Given the description of an element on the screen output the (x, y) to click on. 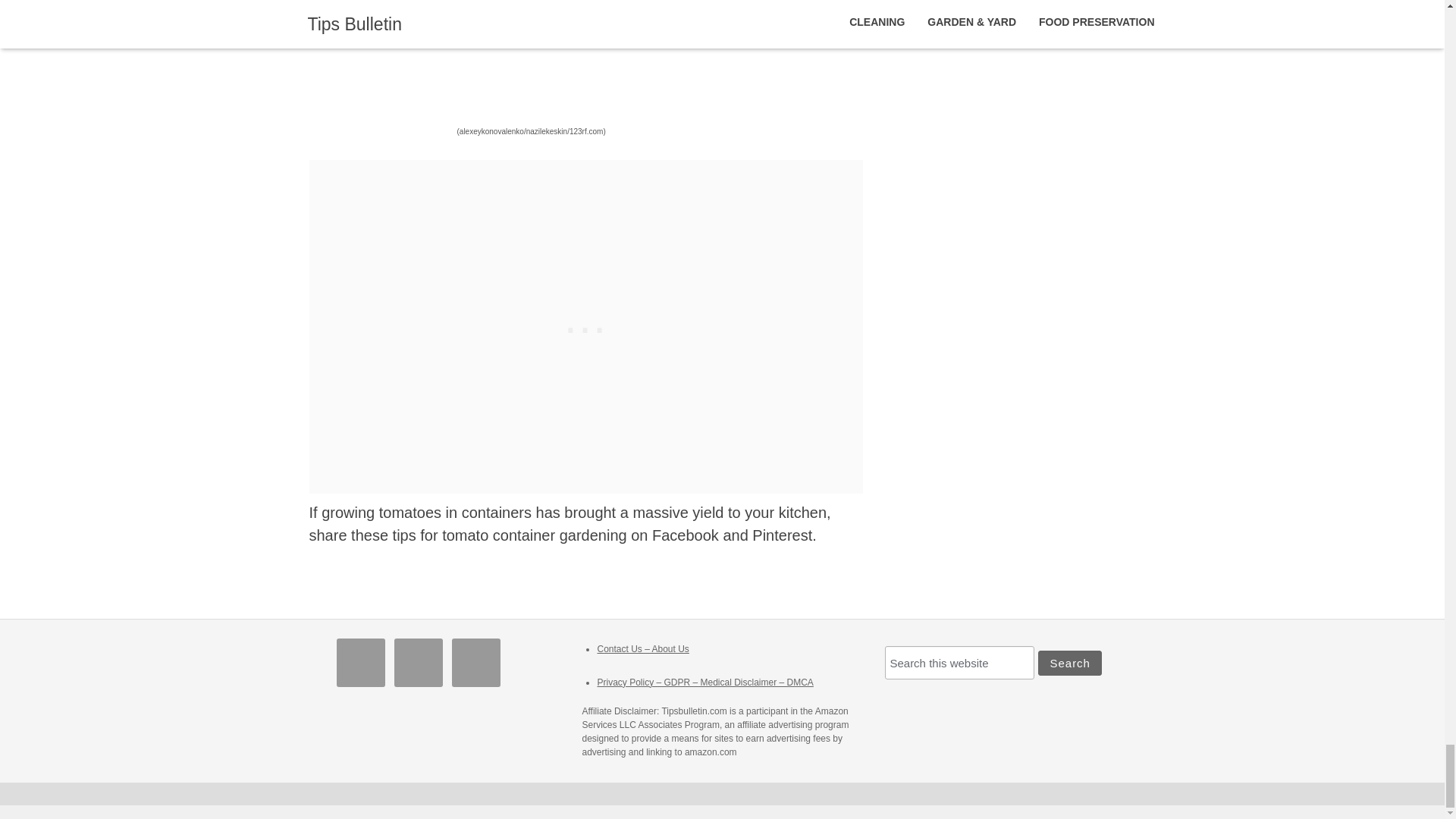
Search (1070, 662)
Search (1070, 662)
